Given the description of an element on the screen output the (x, y) to click on. 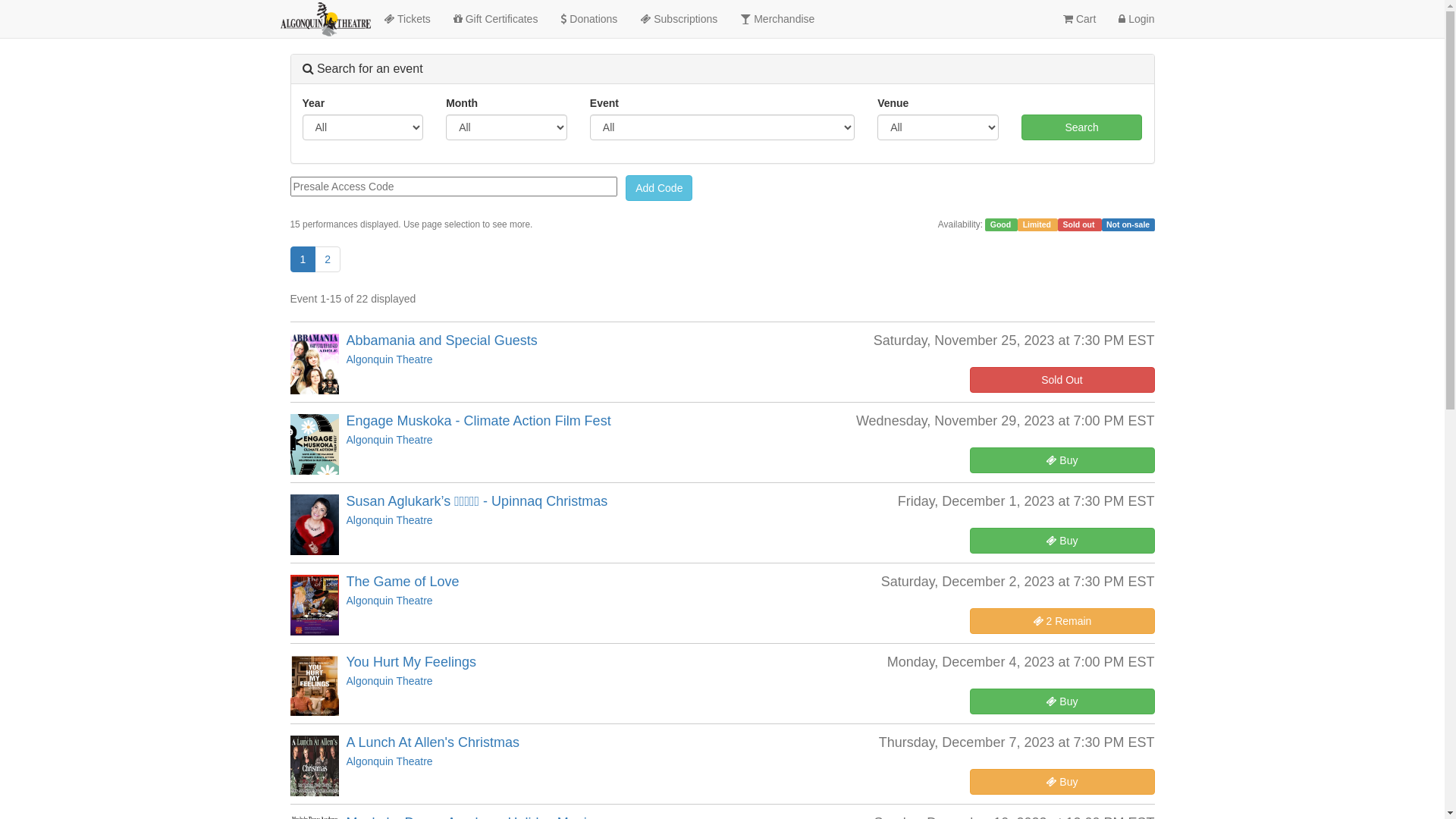
Algonquin Theatre Element type: text (388, 680)
Add Code Element type: text (658, 187)
Search for an event Element type: text (361, 68)
1 Element type: text (302, 259)
Buy Element type: text (1061, 781)
2 Element type: text (327, 259)
Subscriptions Element type: text (678, 18)
Buy Element type: text (1061, 460)
Tickets Element type: text (406, 18)
Algonquin Theatre Element type: text (388, 520)
Merchandise Element type: text (776, 18)
Gift Certificates Element type: text (495, 18)
Donations Element type: text (588, 18)
You Hurt My Feelings Element type: text (410, 661)
A Lunch At Allen's Christmas Element type: text (432, 741)
Algonquin Theatre Element type: text (388, 600)
Login Element type: text (1136, 18)
Search Element type: text (1081, 127)
Sold Out Element type: text (1061, 379)
The Game of Love Element type: text (401, 581)
Algonquin Theatre Element type: text (388, 359)
Engage Muskoka - Climate Action Film Fest Element type: text (477, 420)
Buy Element type: text (1061, 701)
Algonquin Theatre Element type: text (388, 439)
Cart Element type: text (1079, 18)
Algonquin Theatre Element type: text (388, 761)
Abbamania and Special Guests Element type: text (440, 340)
Buy Element type: text (1061, 540)
2 Remain Element type: text (1061, 620)
